Given the description of an element on the screen output the (x, y) to click on. 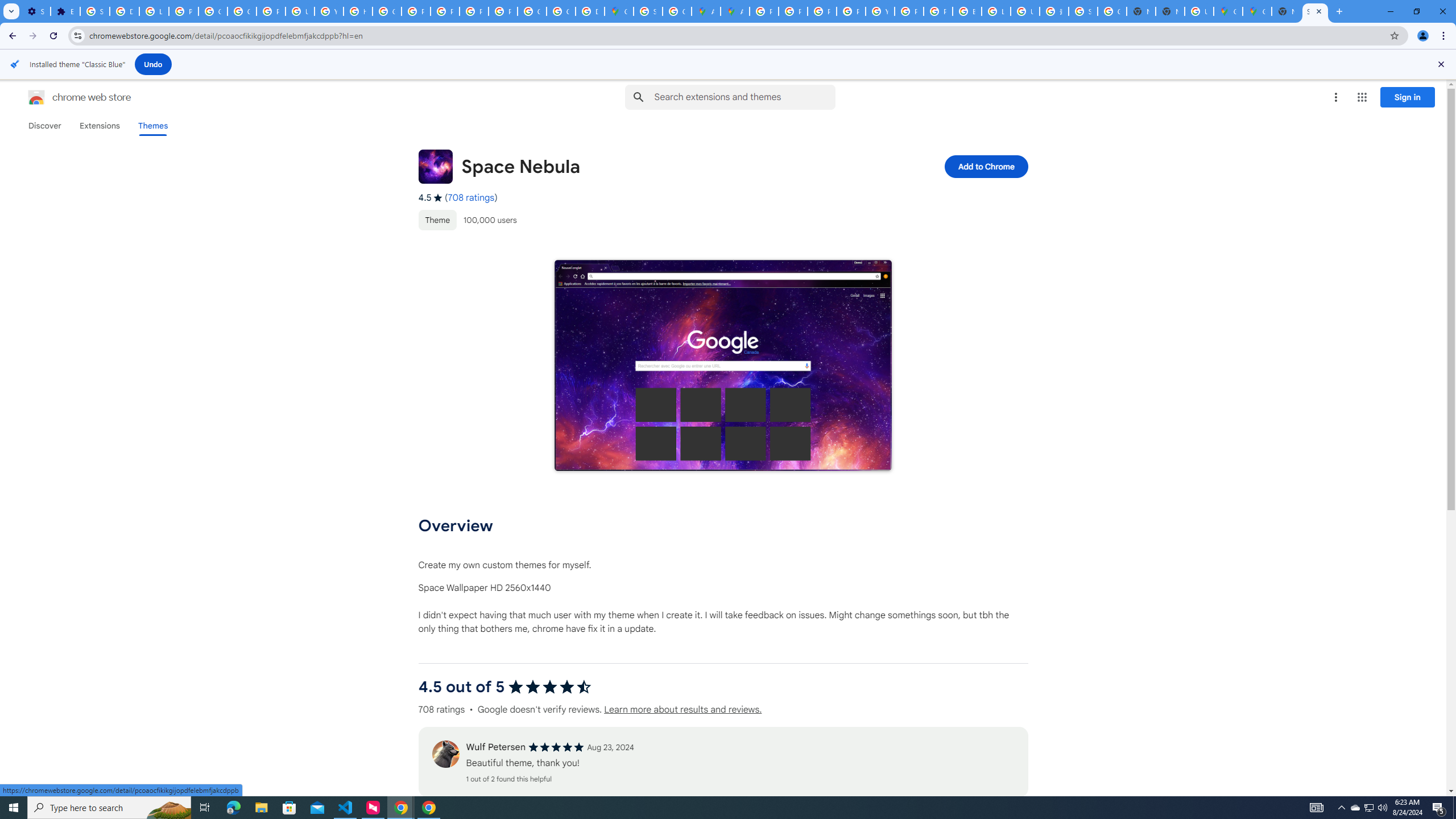
Google Account Help (242, 11)
YouTube (879, 11)
Google Maps (1256, 11)
Privacy Help Center - Policies Help (821, 11)
Search input (744, 96)
Add to Chrome (985, 166)
